Given the description of an element on the screen output the (x, y) to click on. 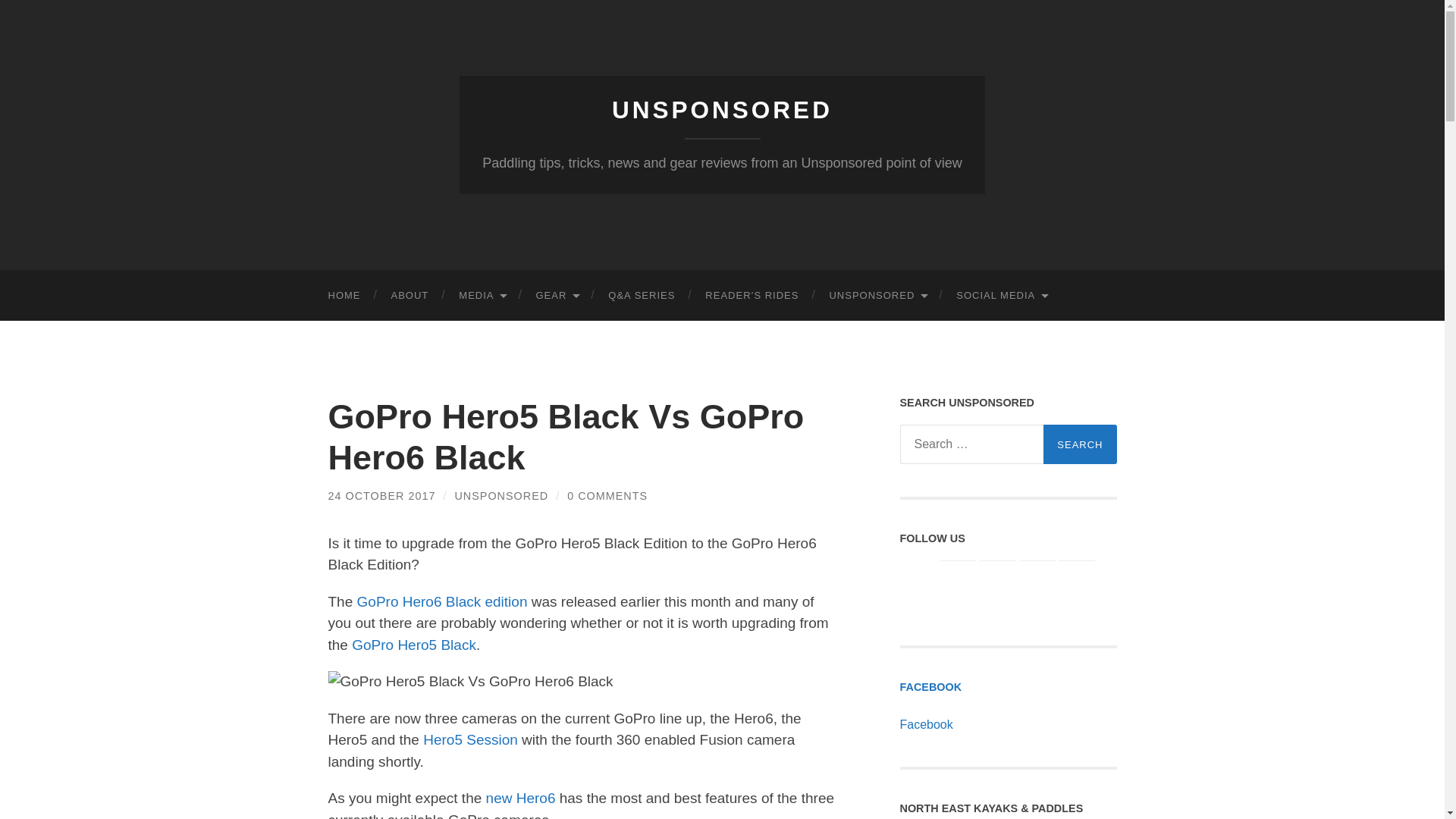
GEAR (555, 295)
UNSPONSORED (876, 295)
MEDIA (481, 295)
SOCIAL MEDIA (1000, 295)
Posts by Unsponsored (501, 495)
Search (1079, 444)
Search (1079, 444)
UNSPONSORED (721, 109)
HOME (344, 295)
ABOUT (409, 295)
